Given the description of an element on the screen output the (x, y) to click on. 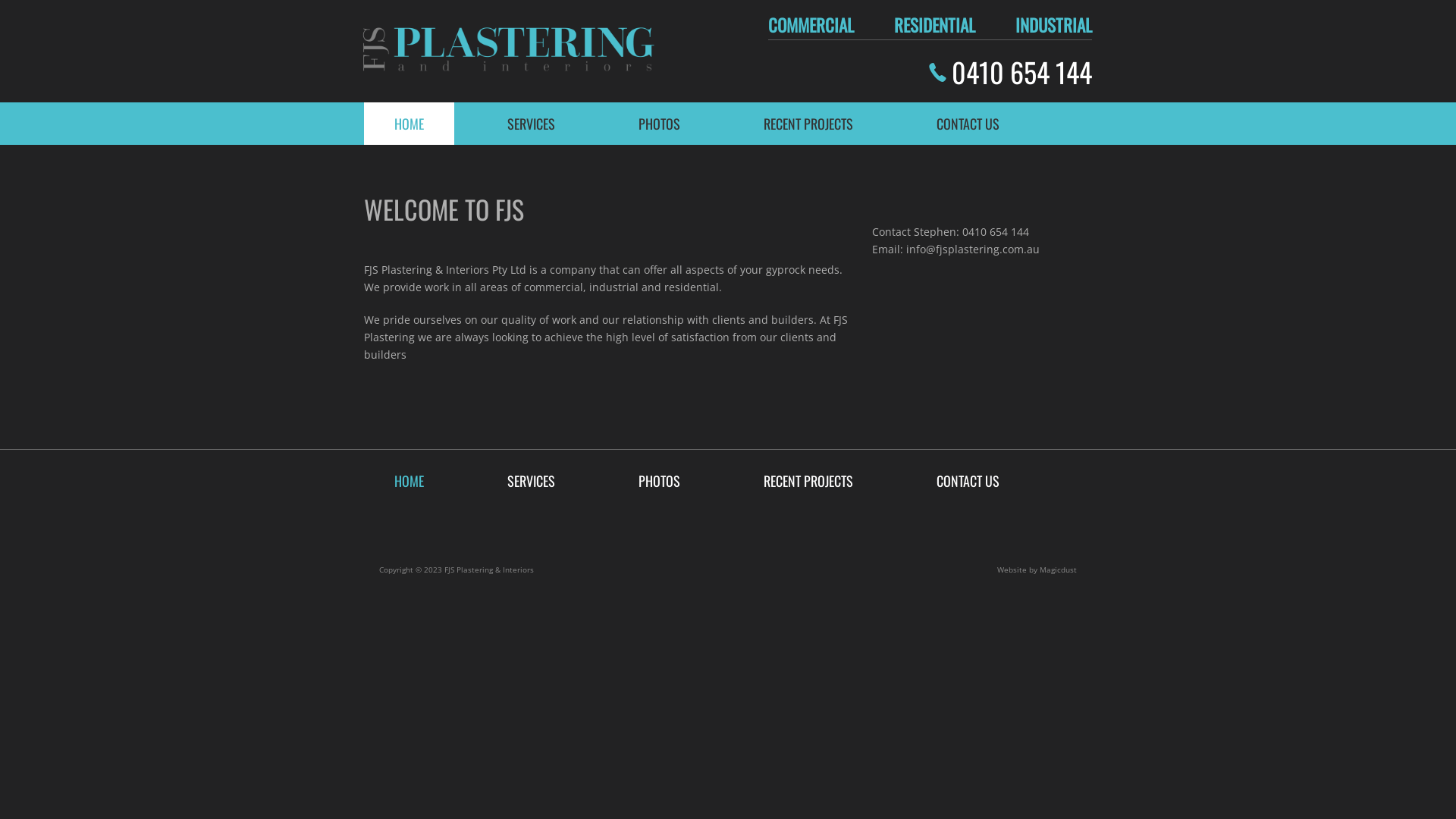
PHOTOS Element type: text (659, 480)
RECENT PROJECTS Element type: text (808, 480)
RECENT PROJECTS Element type: text (808, 123)
Magicdust Element type: text (1057, 569)
HOME Element type: text (409, 480)
CONTACT US Element type: text (967, 480)
HOME Element type: text (409, 123)
CONTACT US Element type: text (967, 123)
SERVICES Element type: text (530, 480)
FJS PLASTERING & INTERIORS Element type: text (507, 51)
PHOTOS Element type: text (659, 123)
SERVICES Element type: text (530, 123)
